Given the description of an element on the screen output the (x, y) to click on. 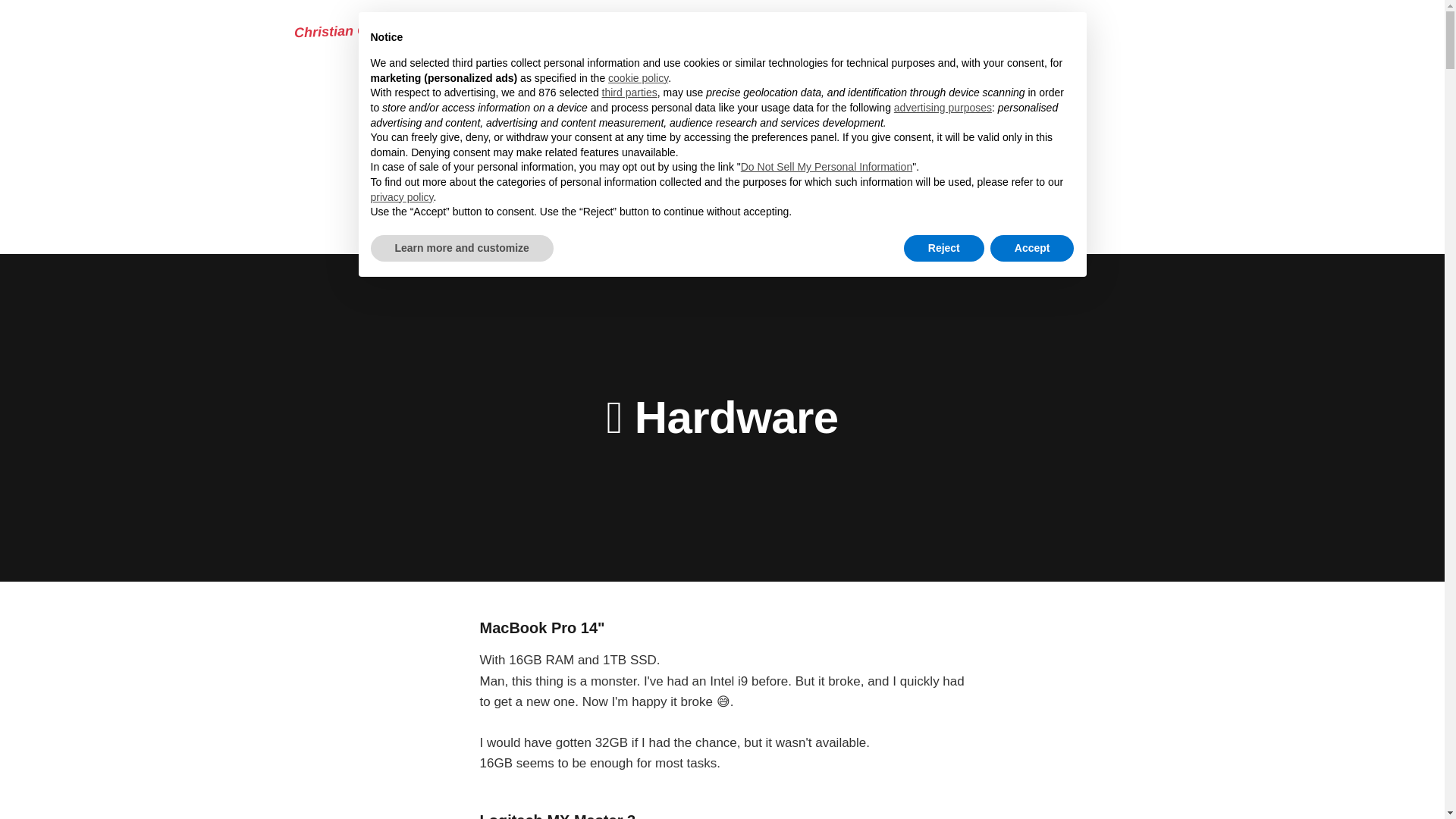
Mastodon (712, 30)
LinkedIn (785, 30)
uses.tech (727, 186)
Uses (648, 30)
Christian Gambardella (366, 27)
